Given the description of an element on the screen output the (x, y) to click on. 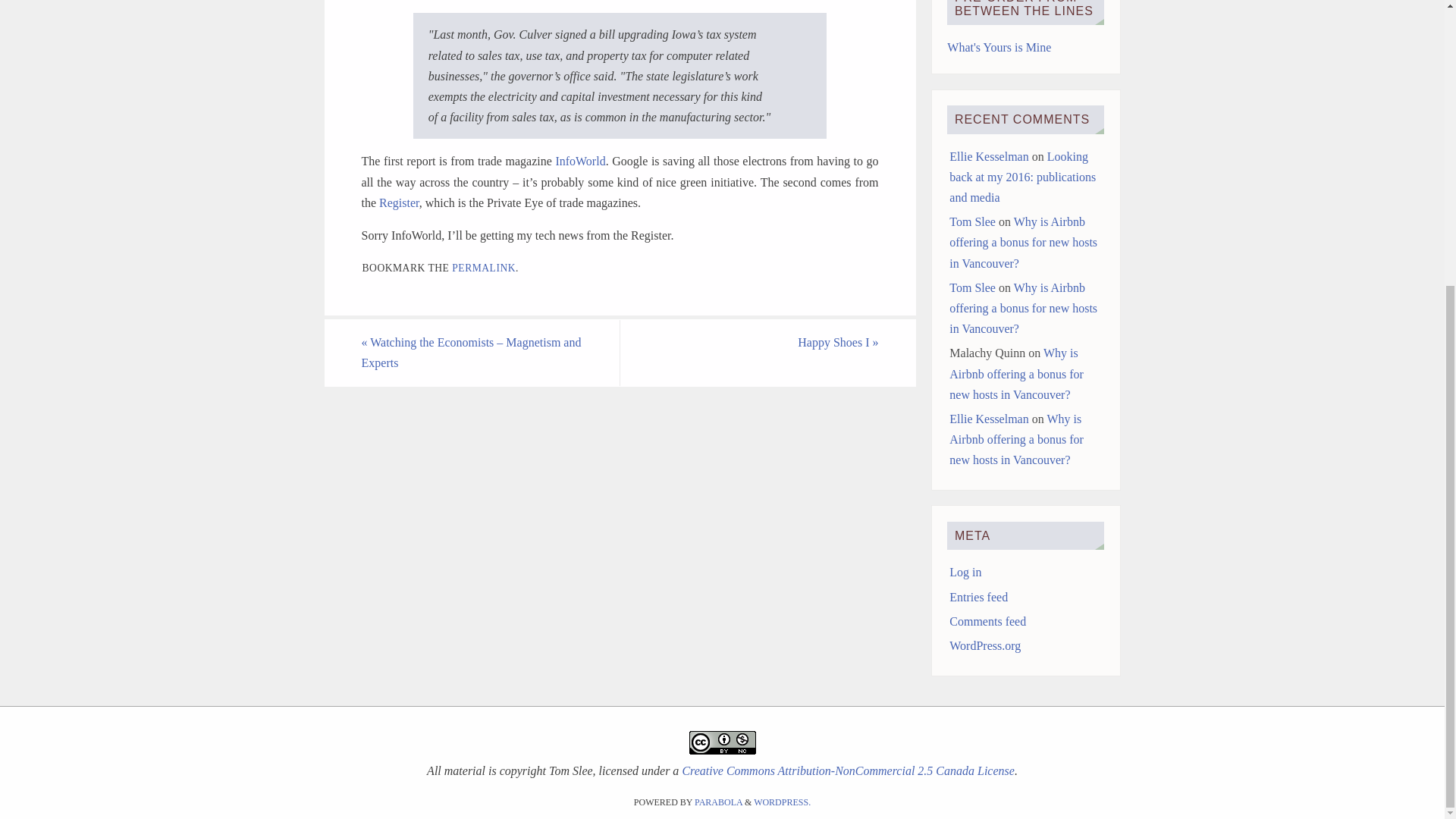
Why is Airbnb offering a bonus for new hosts in Vancouver? (1016, 439)
Tom Slee (972, 221)
Why is Airbnb offering a bonus for new hosts in Vancouver? (1023, 242)
Register (398, 202)
Why is Airbnb offering a bonus for new hosts in Vancouver? (1016, 373)
WordPress.org (984, 645)
Why is Airbnb offering a bonus for new hosts in Vancouver? (1023, 307)
Ellie Kesselman (988, 418)
What's Yours is Mine (999, 47)
Comments feed (987, 621)
InfoWorld (579, 160)
Entries feed (978, 596)
Parabola Theme by Cryout Creations (718, 801)
Tom Slee (972, 287)
Semantic Personal Publishing Platform (782, 801)
